Given the description of an element on the screen output the (x, y) to click on. 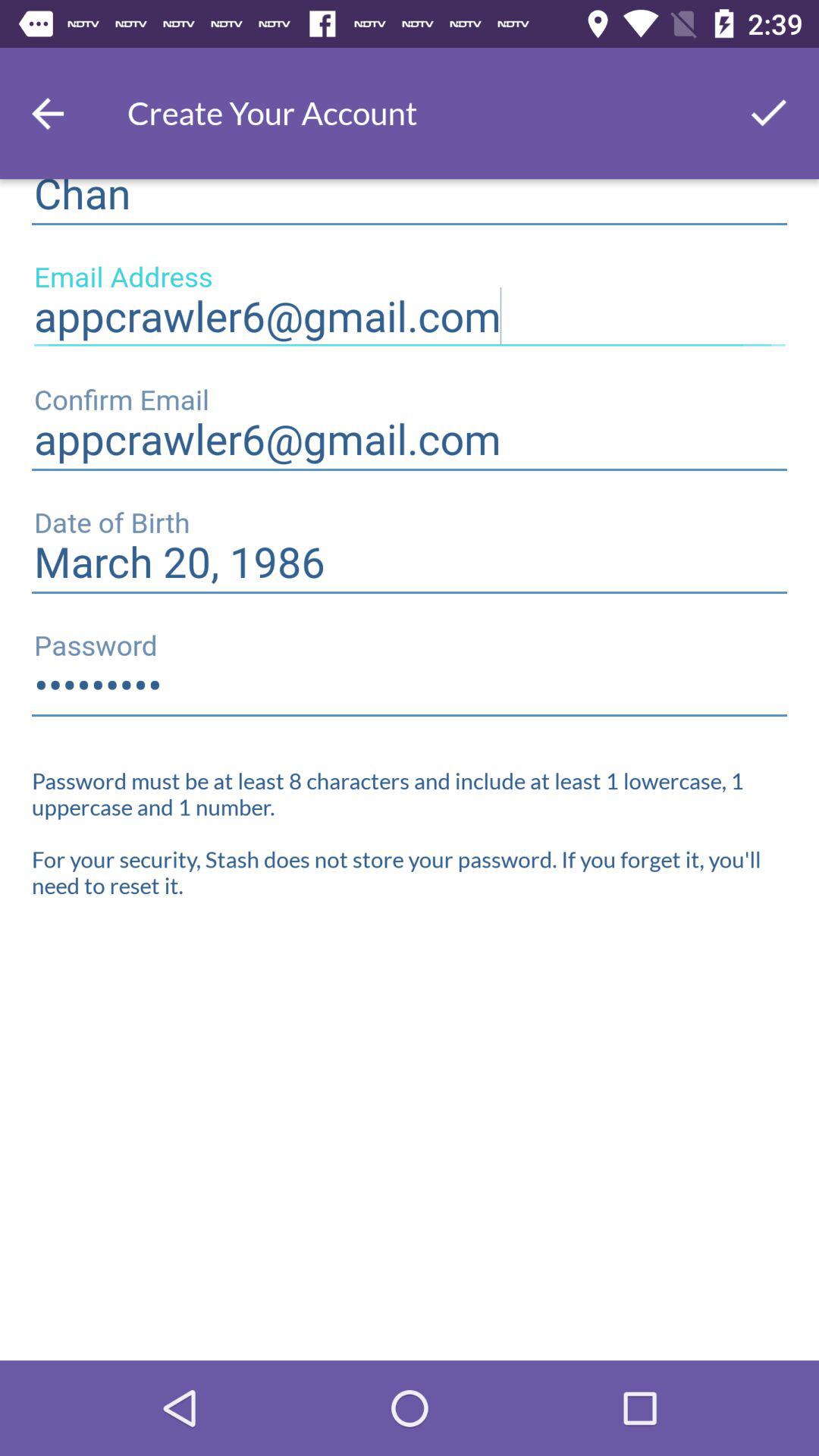
go back (47, 113)
